Given the description of an element on the screen output the (x, y) to click on. 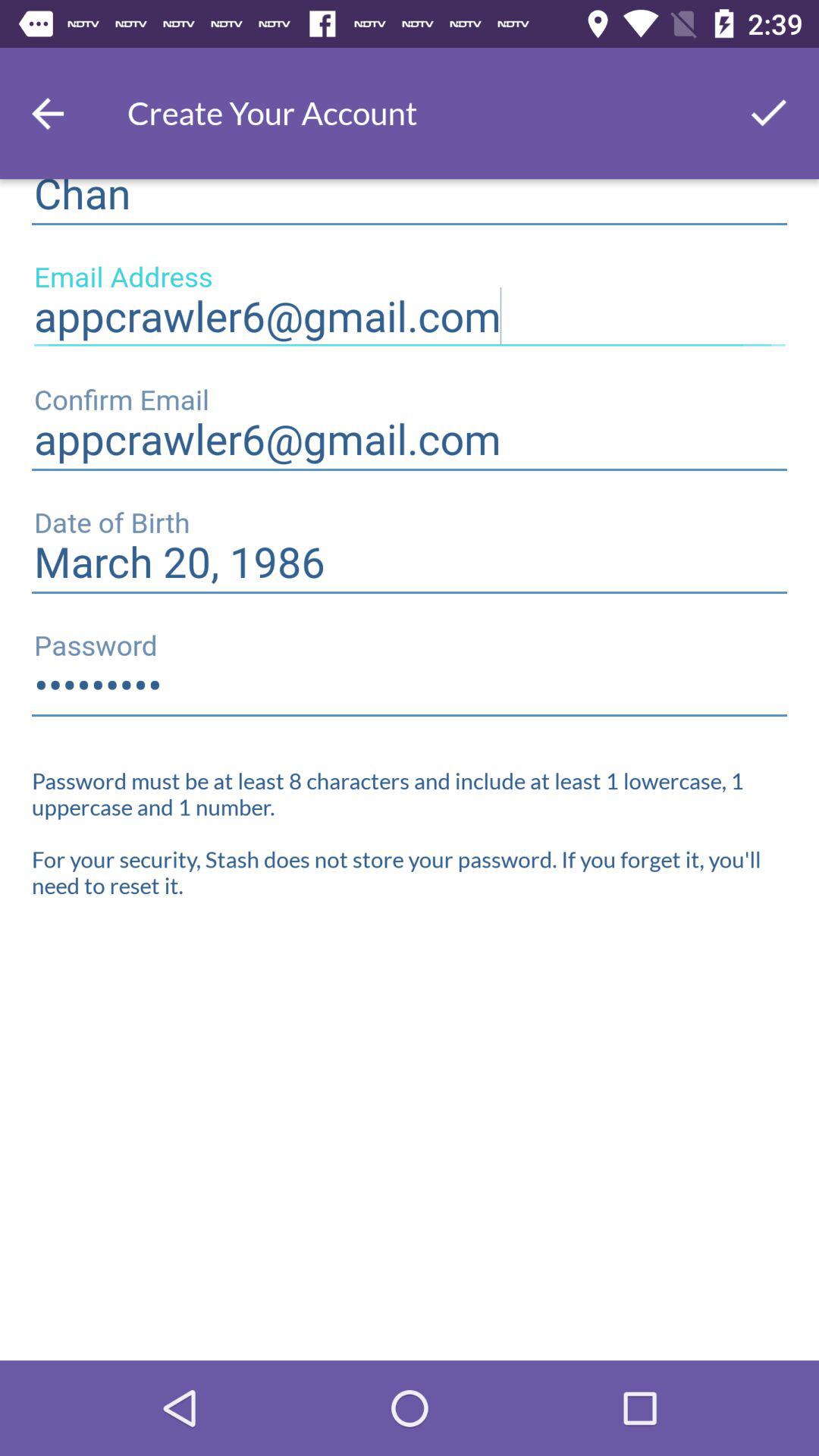
go back (47, 113)
